Given the description of an element on the screen output the (x, y) to click on. 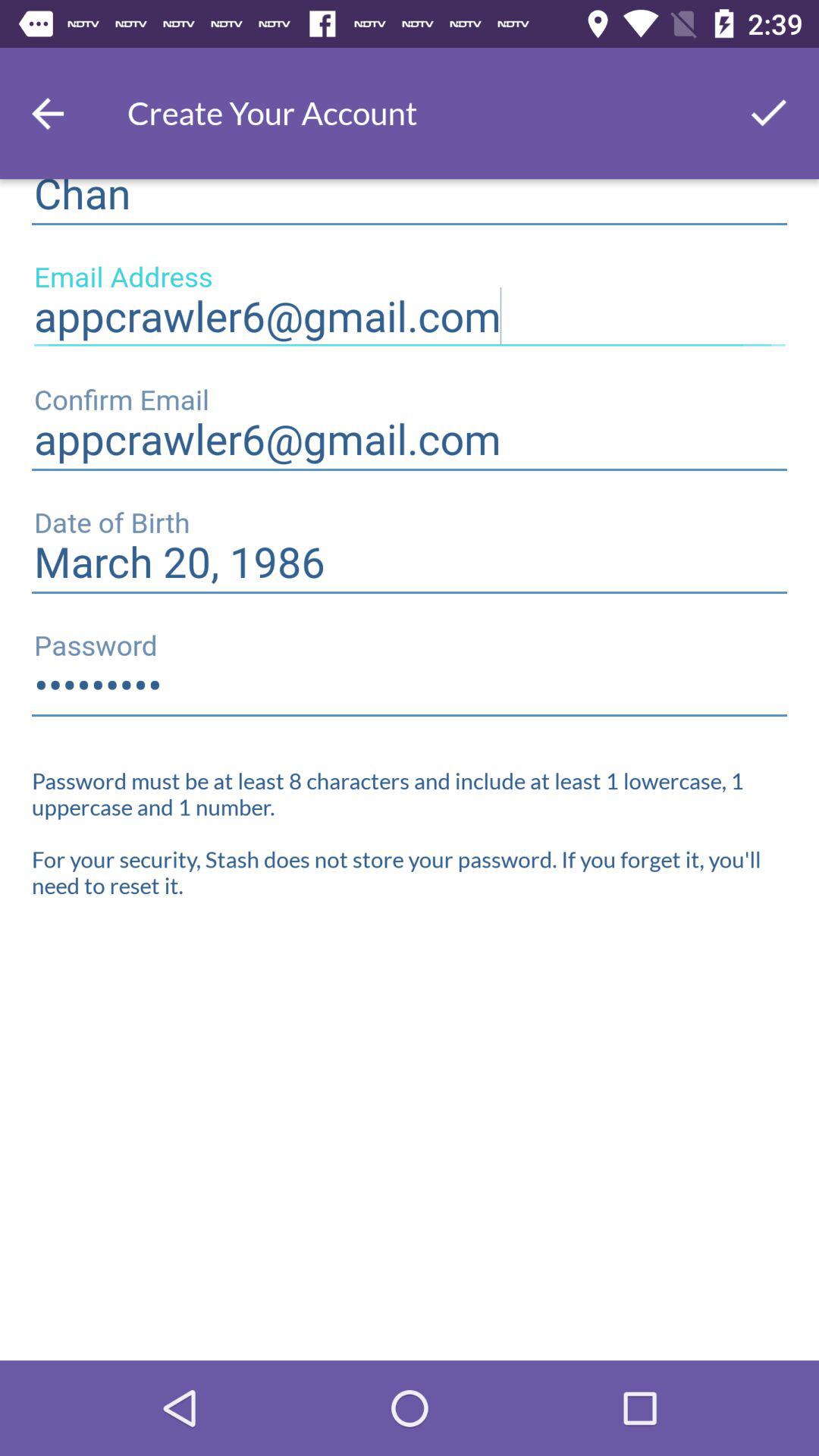
go back (47, 113)
